Given the description of an element on the screen output the (x, y) to click on. 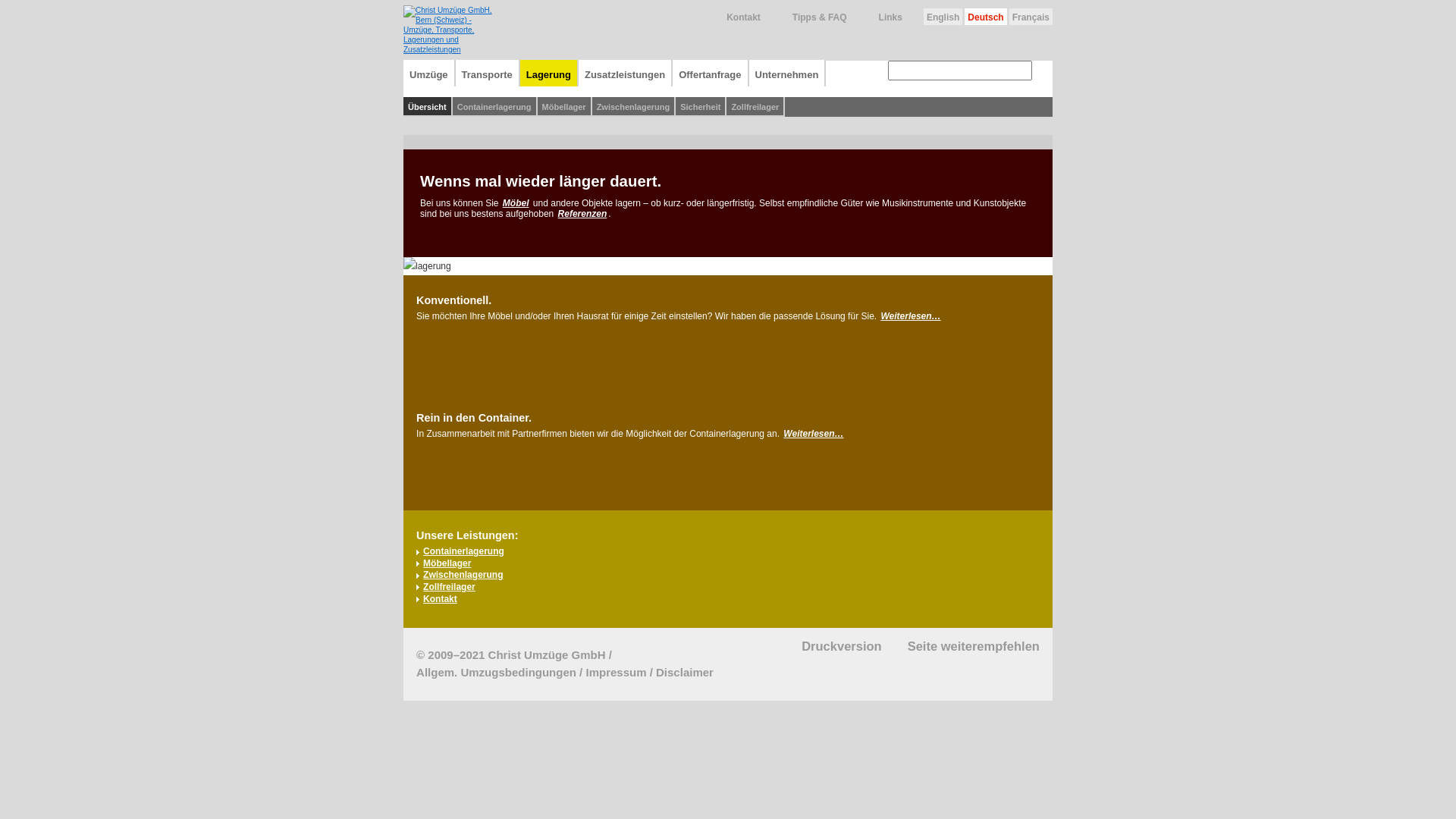
Zusatzleistungen Element type: text (625, 72)
Sicherheit Element type: text (700, 106)
Impressum Element type: text (615, 671)
Offertanfrage Element type: text (710, 72)
Zwischenlagerung Element type: text (462, 574)
Referenzen Element type: text (582, 213)
Containerlagerung Element type: text (463, 551)
Lagerung Element type: text (549, 72)
Disclaimer Element type: text (684, 671)
English Element type: text (942, 16)
Seite weiterempfehlen Element type: text (961, 645)
Zollfreilager Element type: text (755, 106)
Zwischenlagerung Element type: text (634, 106)
Zollfreilager Element type: text (449, 586)
Tipps & FAQ Element type: text (808, 19)
Kontakt Element type: text (440, 598)
Deutsch Element type: text (985, 16)
Druckversion Element type: text (829, 645)
Kontakt Element type: text (731, 19)
Allgem. Umzugsbedingungen Element type: text (496, 671)
Links Element type: text (879, 19)
Transporte Element type: text (487, 72)
Unternehmen Element type: text (787, 72)
Containerlagerung Element type: text (494, 106)
